Given the description of an element on the screen output the (x, y) to click on. 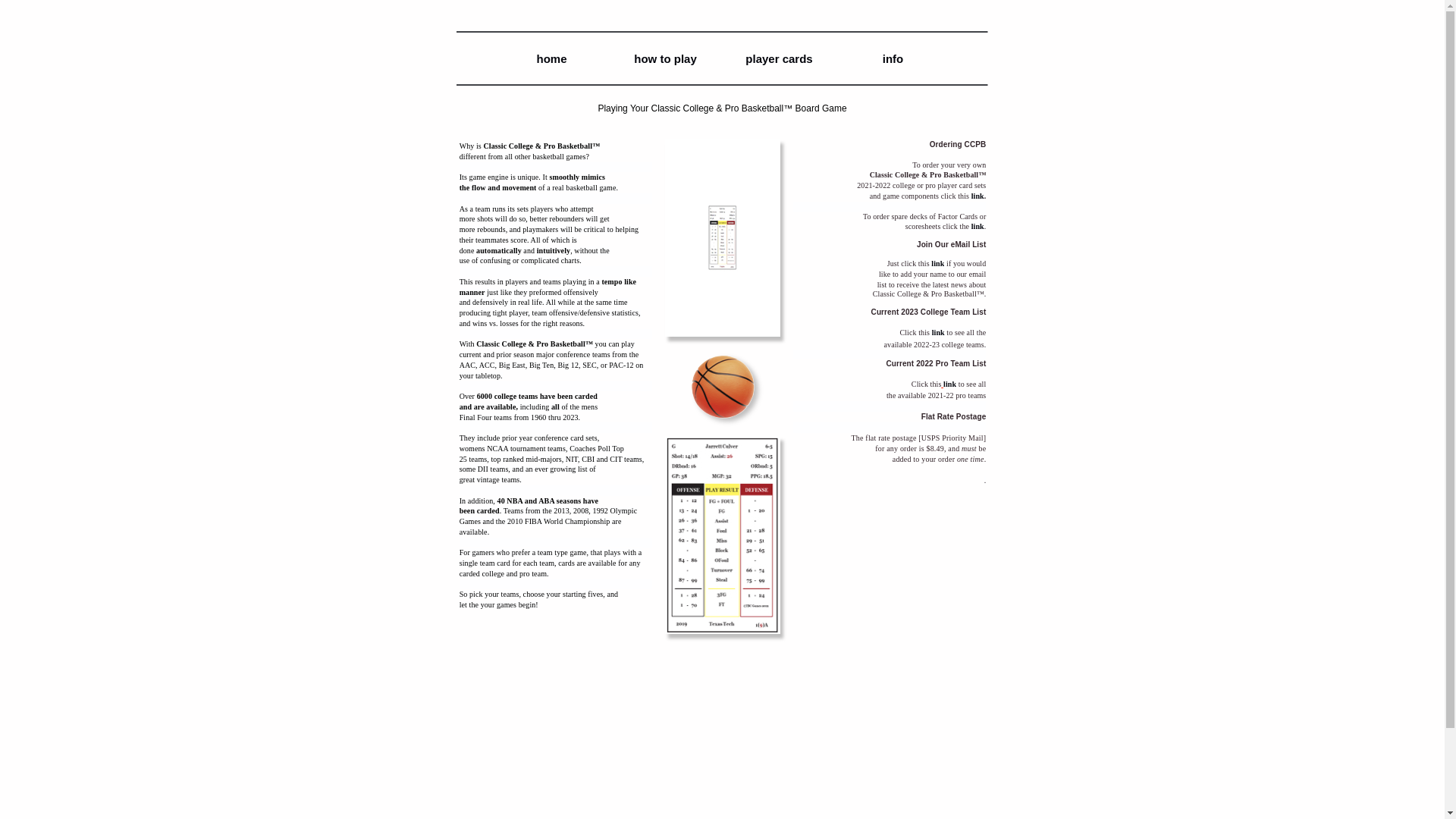
how to play (665, 58)
player cards (778, 58)
info (893, 58)
link (937, 263)
link (949, 383)
link (977, 195)
link (937, 332)
link (977, 225)
home (551, 58)
